Given the description of an element on the screen output the (x, y) to click on. 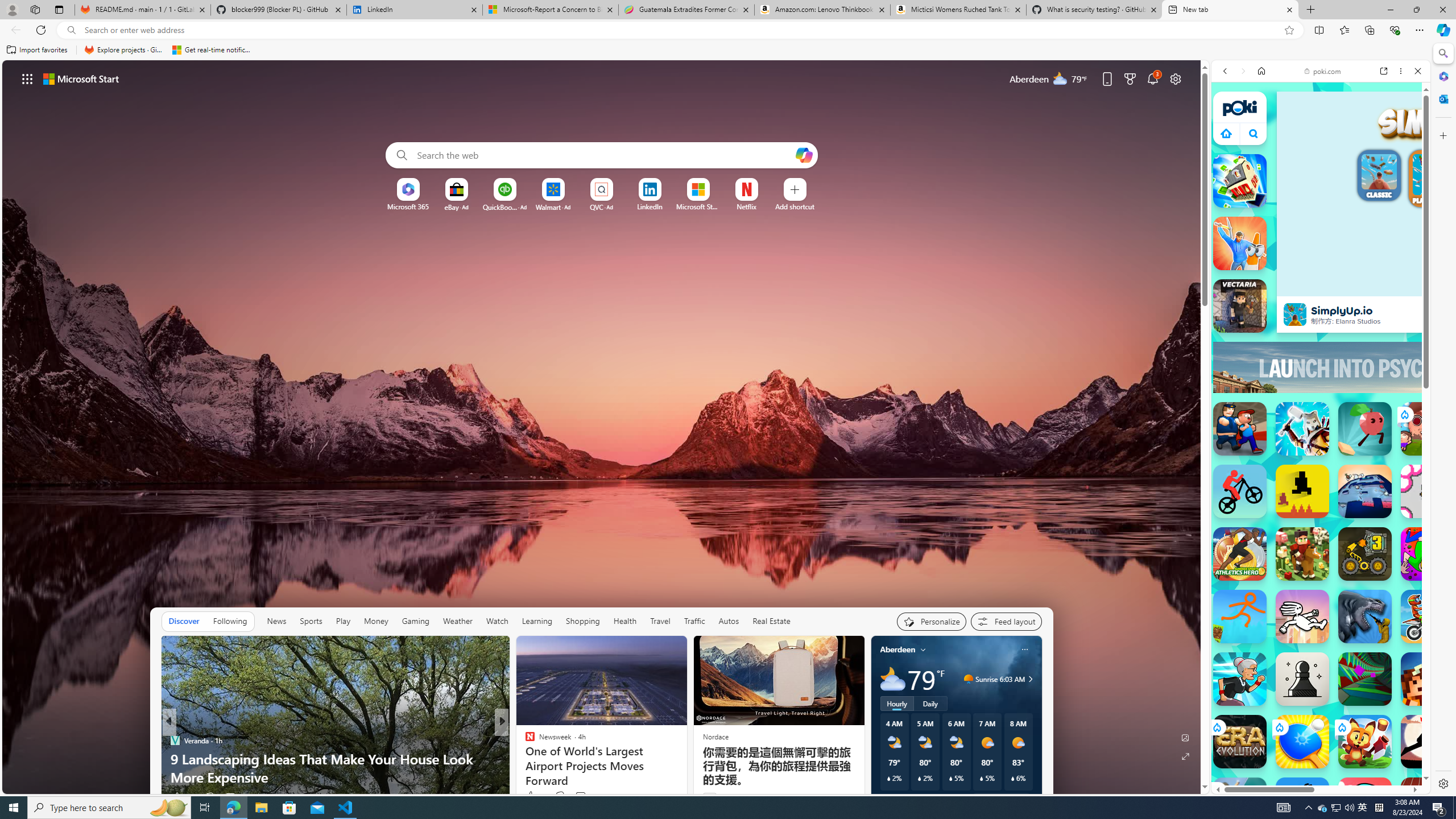
Netflix (746, 206)
Sports Games (1320, 397)
ABC News (524, 740)
Athletics Hero Athletics Hero (1239, 553)
SimplyUp.io (1295, 314)
House Beautiful (524, 740)
Vectaria.io (1239, 305)
Sharkosaurus Rampage Sharkosaurus Rampage (1364, 615)
Eat the world Eat the world (1427, 428)
